Given the description of an element on the screen output the (x, y) to click on. 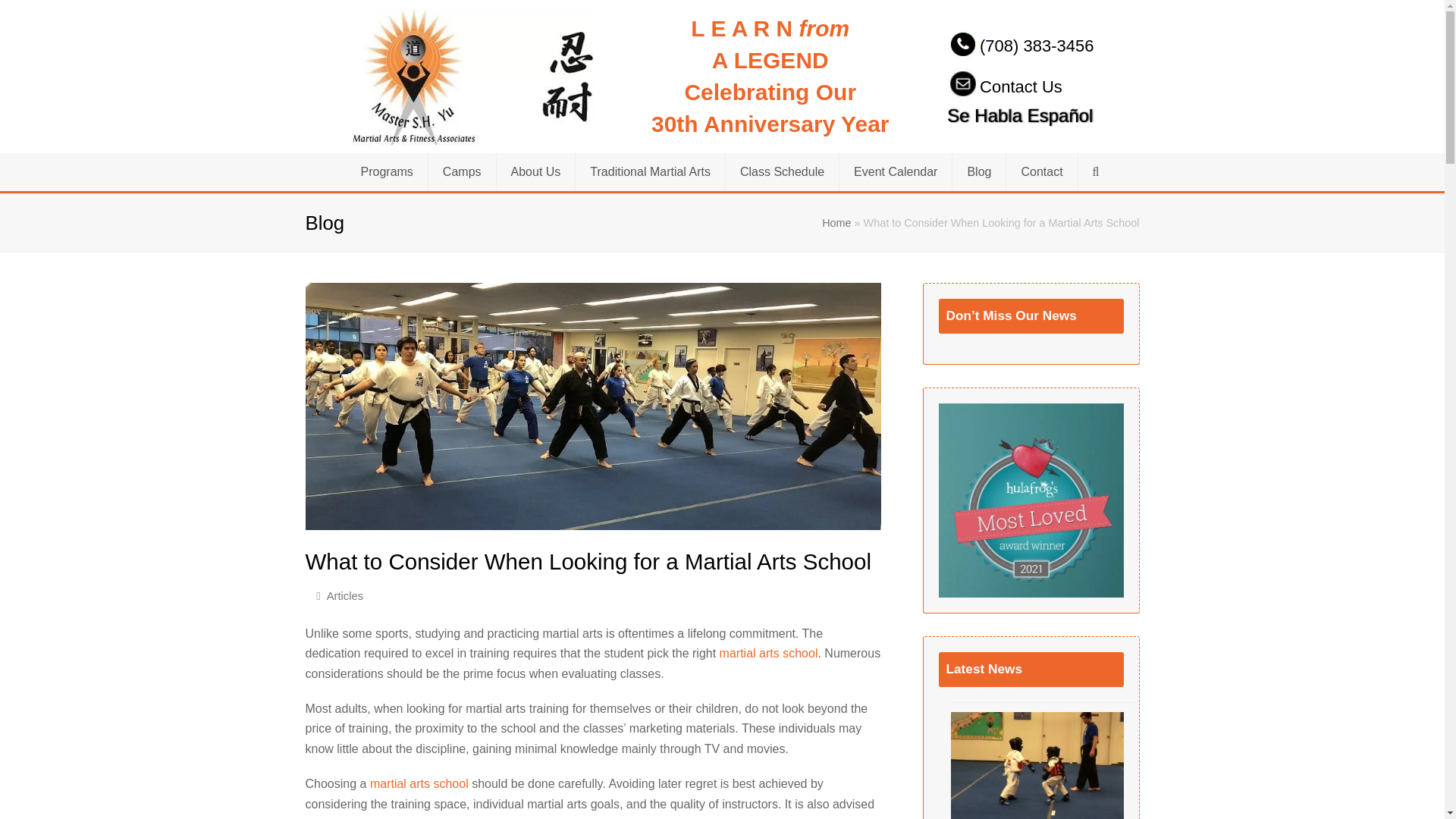
About Us (535, 171)
Event Calendar (896, 171)
Class Schedule (781, 171)
Contact Us (1004, 86)
Traditional Martial Arts (650, 171)
Programs (386, 171)
Contact (1041, 171)
Blog (979, 171)
Camps (462, 171)
Martial Arts Equipment Cleaning and Care Tips (1037, 765)
